Given the description of an element on the screen output the (x, y) to click on. 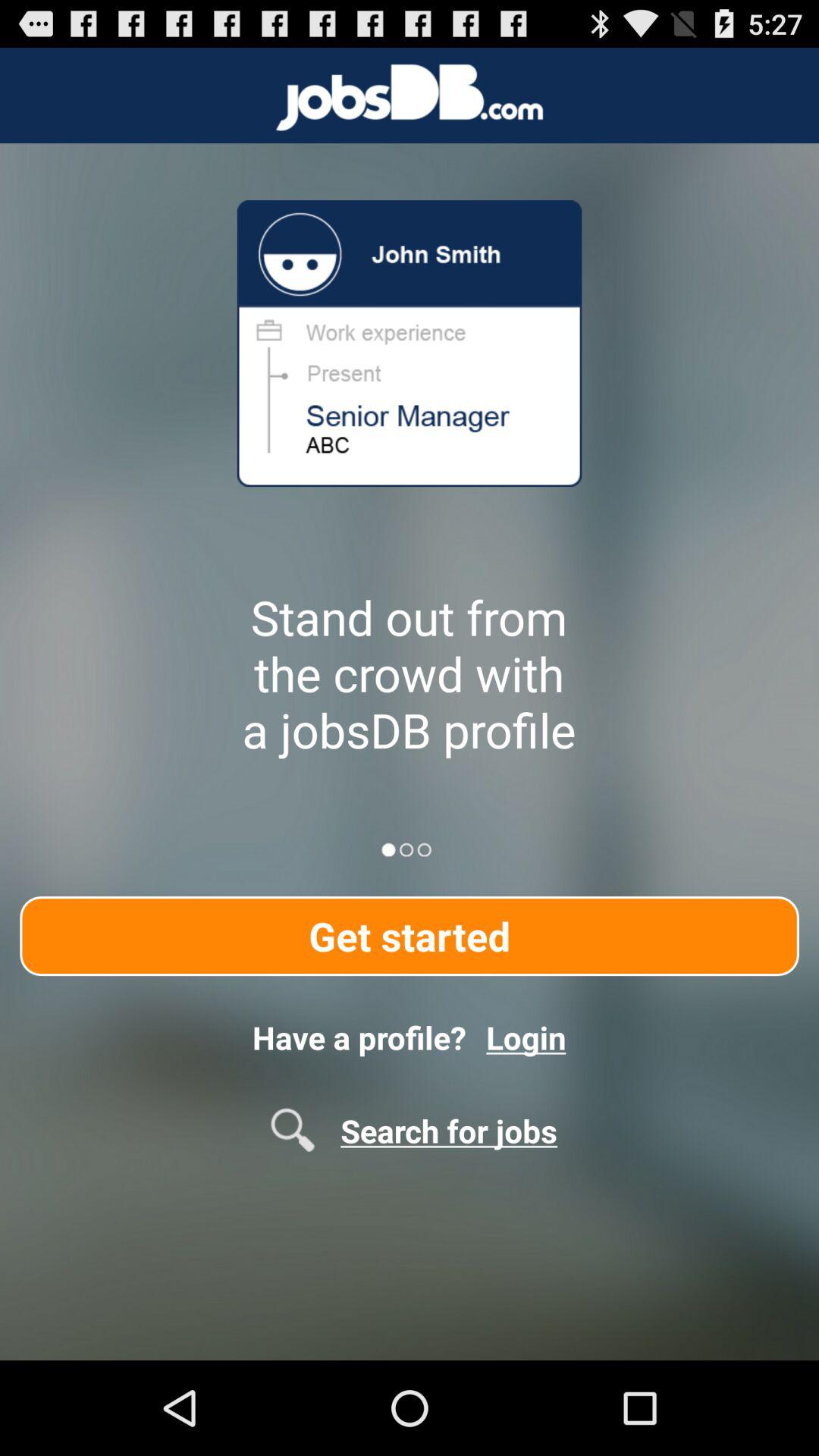
press item above have a profile? (409, 935)
